Given the description of an element on the screen output the (x, y) to click on. 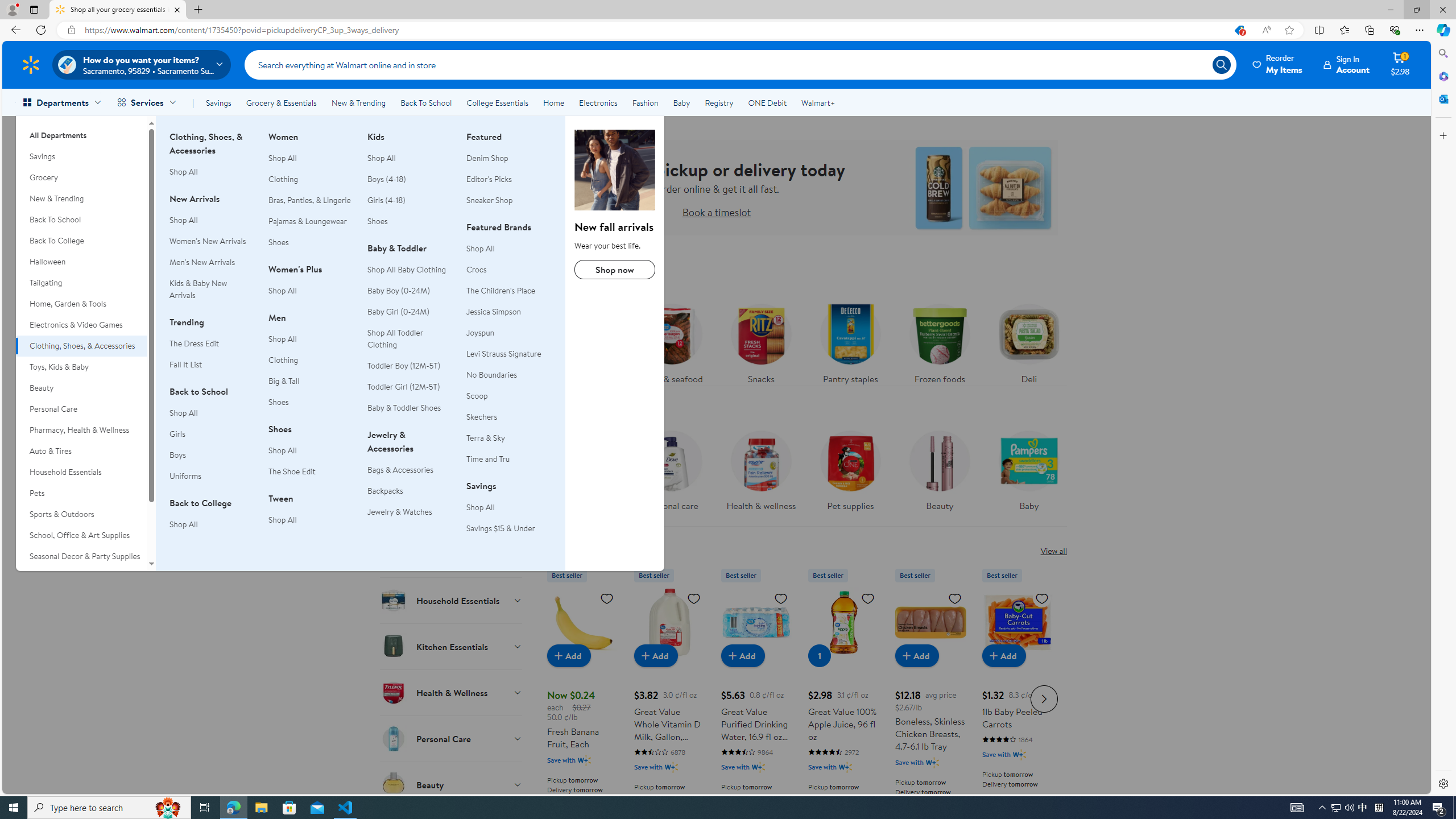
Movies, Music & Books (81, 577)
Kitchen Essentials (451, 646)
TrendingThe Dress EditFall It List (211, 349)
Levi Strauss Signature (508, 354)
Back To School (81, 219)
Toddler Girl (12M-5T) (402, 386)
Skechers (508, 417)
College Essentials (496, 102)
Backpacks (409, 490)
Sneaker Shop (488, 199)
